Given the description of an element on the screen output the (x, y) to click on. 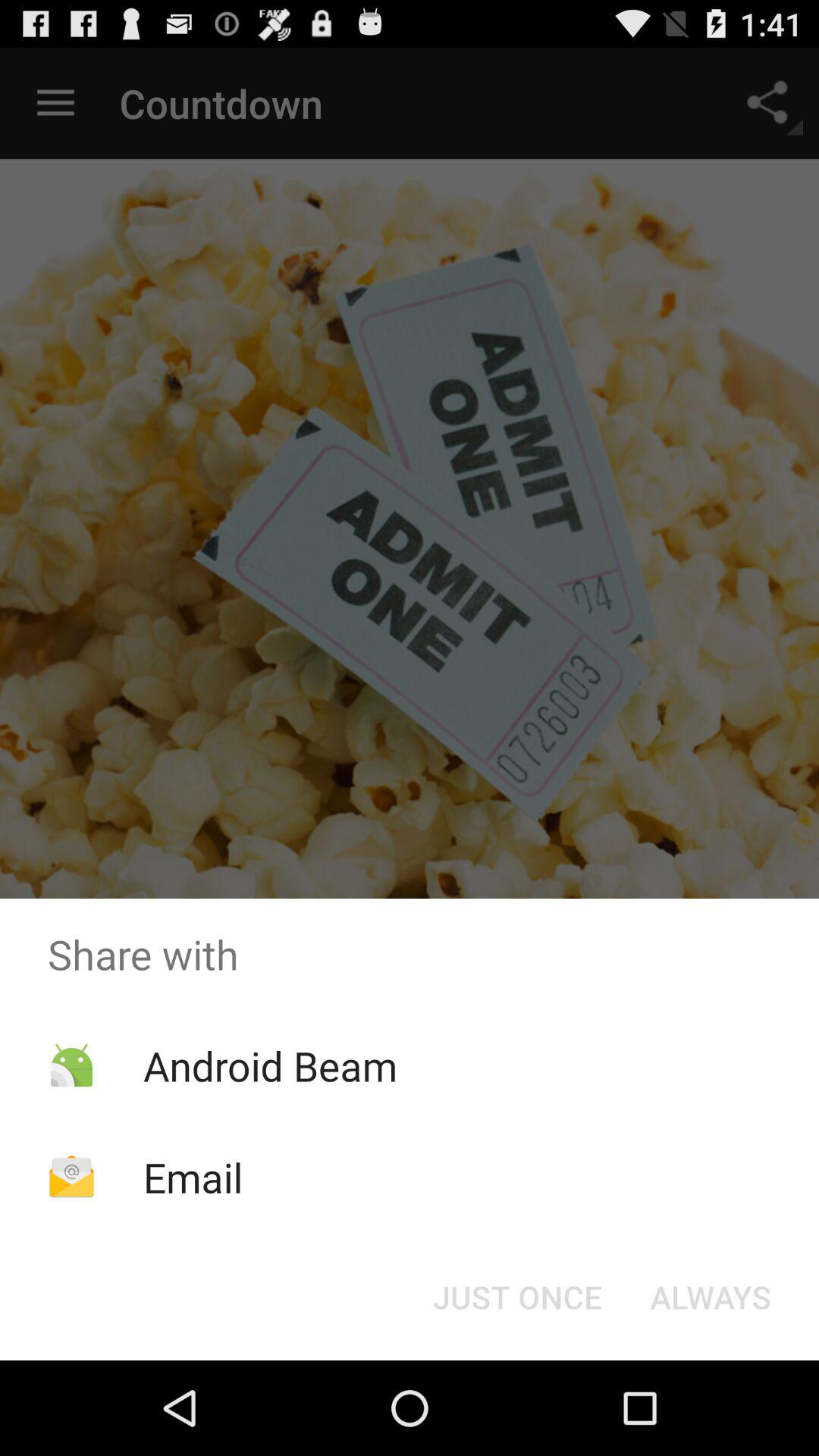
open button to the right of the just once icon (710, 1296)
